Given the description of an element on the screen output the (x, y) to click on. 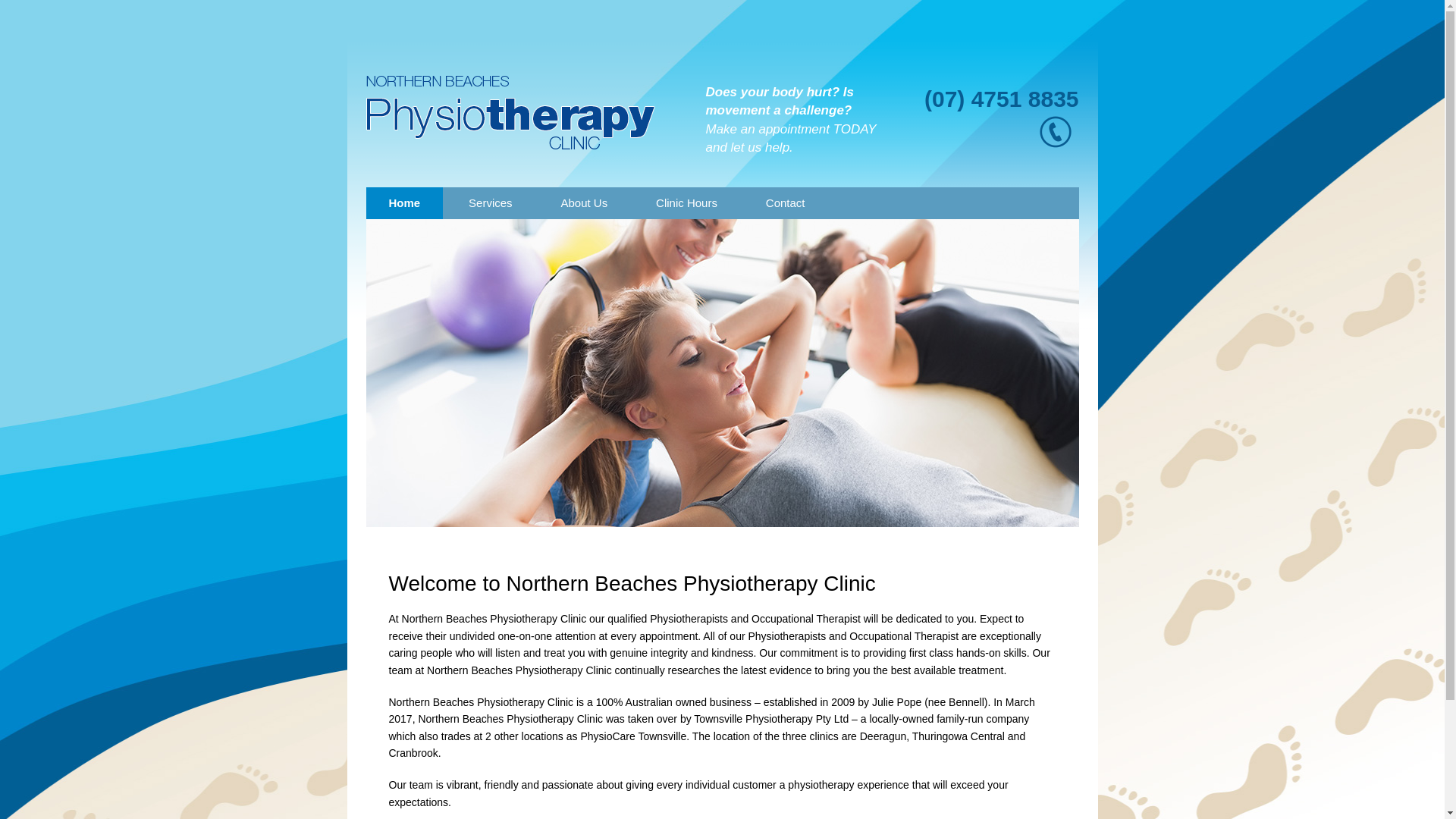
Contact Element type: text (785, 202)
Home Element type: text (403, 202)
Services Element type: text (490, 202)
Clinic Hours Element type: text (686, 202)
Northern Beaches Physiotherapy Element type: hover (509, 112)
About Us Element type: text (584, 202)
